Given the description of an element on the screen output the (x, y) to click on. 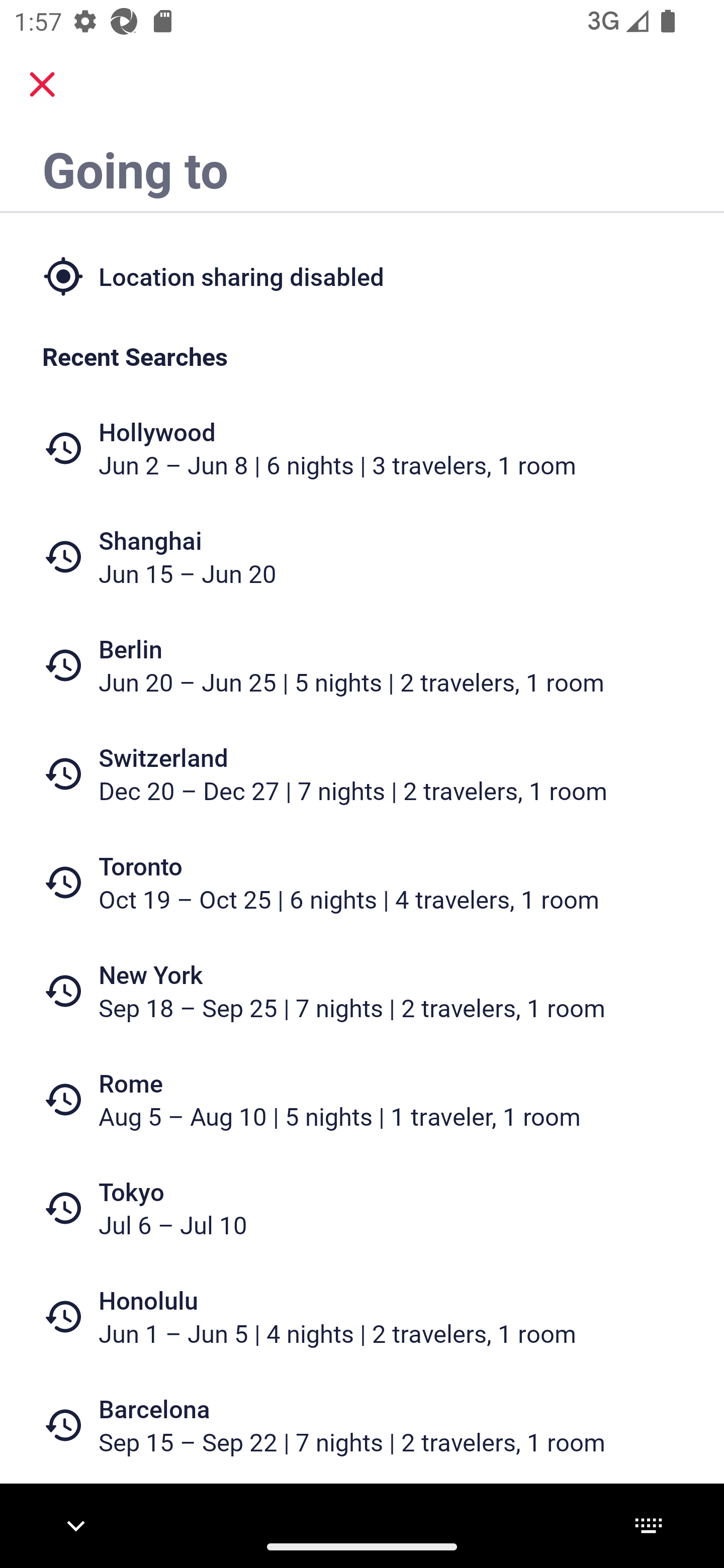
close. (42, 84)
Location sharing disabled (362, 275)
Shanghai Jun 15 – Jun 20 (362, 557)
Tokyo Jul 6 – Jul 10 (362, 1208)
